Given the description of an element on the screen output the (x, y) to click on. 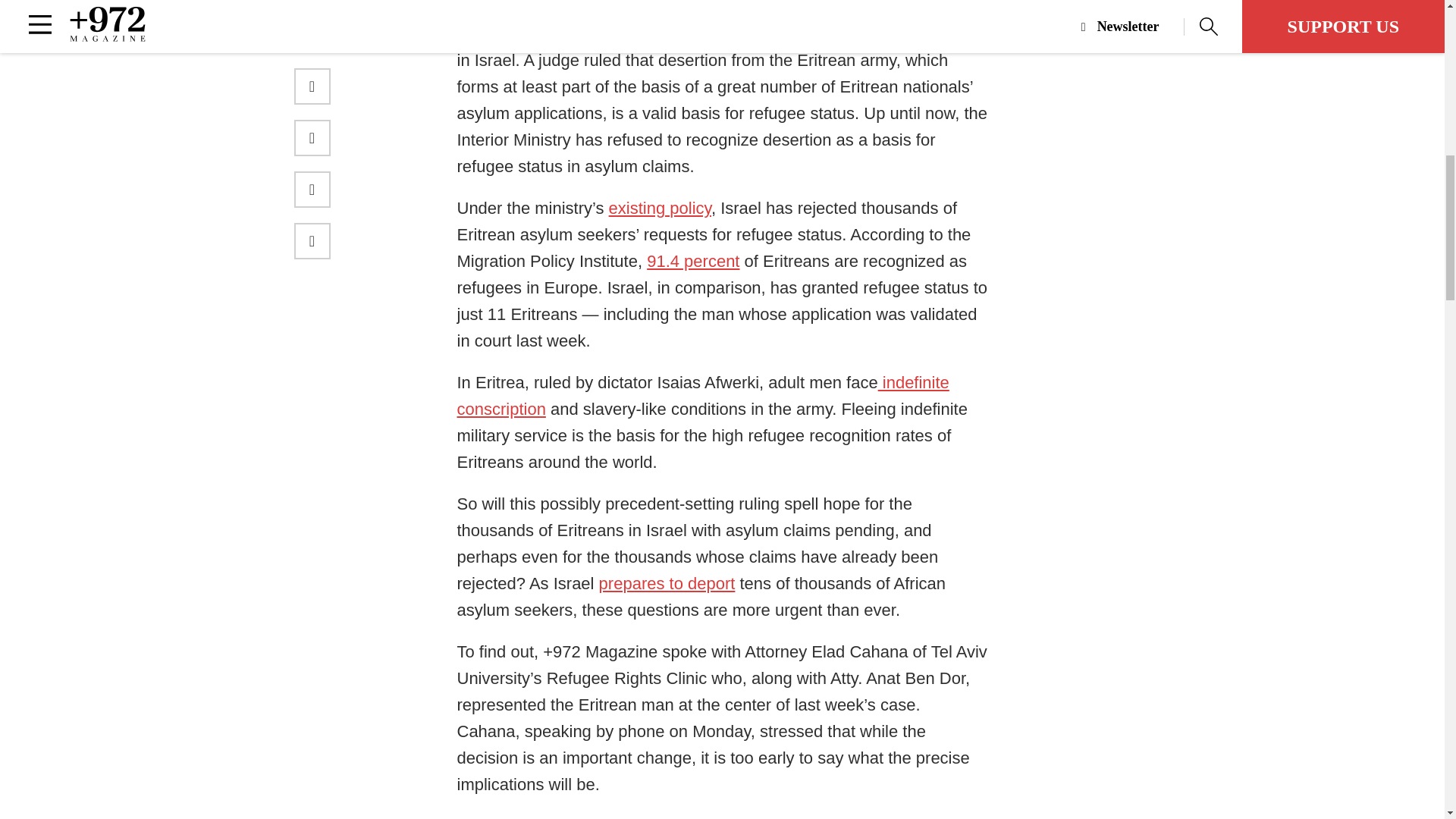
existing policy (659, 208)
prepares to deport (666, 583)
91.4 percent (692, 261)
indefinite conscription (703, 395)
last week (748, 8)
